Given the description of an element on the screen output the (x, y) to click on. 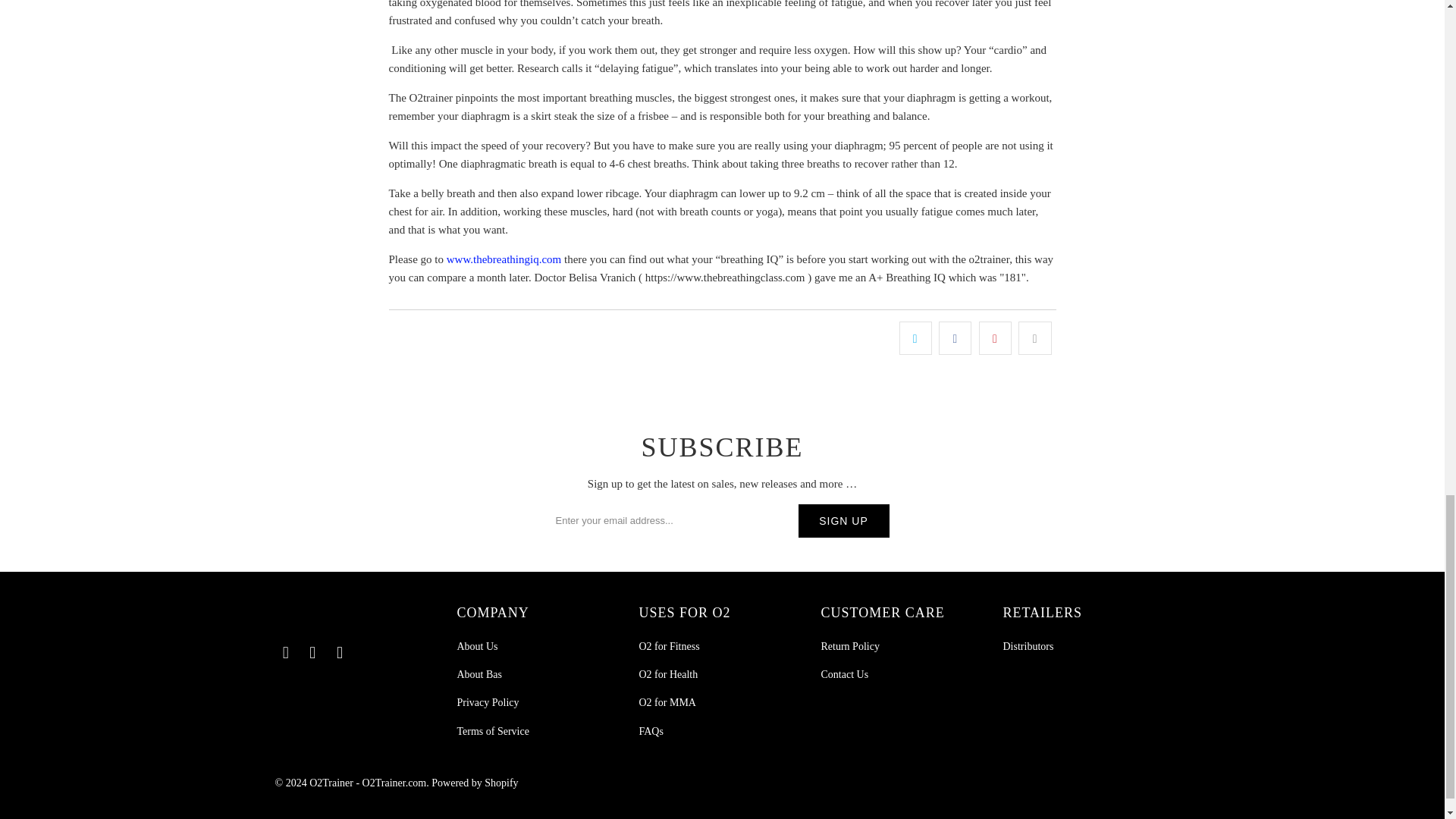
Email this to a friend (1034, 337)
O2Trainer - O2Trainer.com on Facebook (286, 652)
Share this on Facebook (955, 337)
Sign Up (842, 520)
Share this on Pinterest (994, 337)
Share this on Twitter (915, 337)
